Given the description of an element on the screen output the (x, y) to click on. 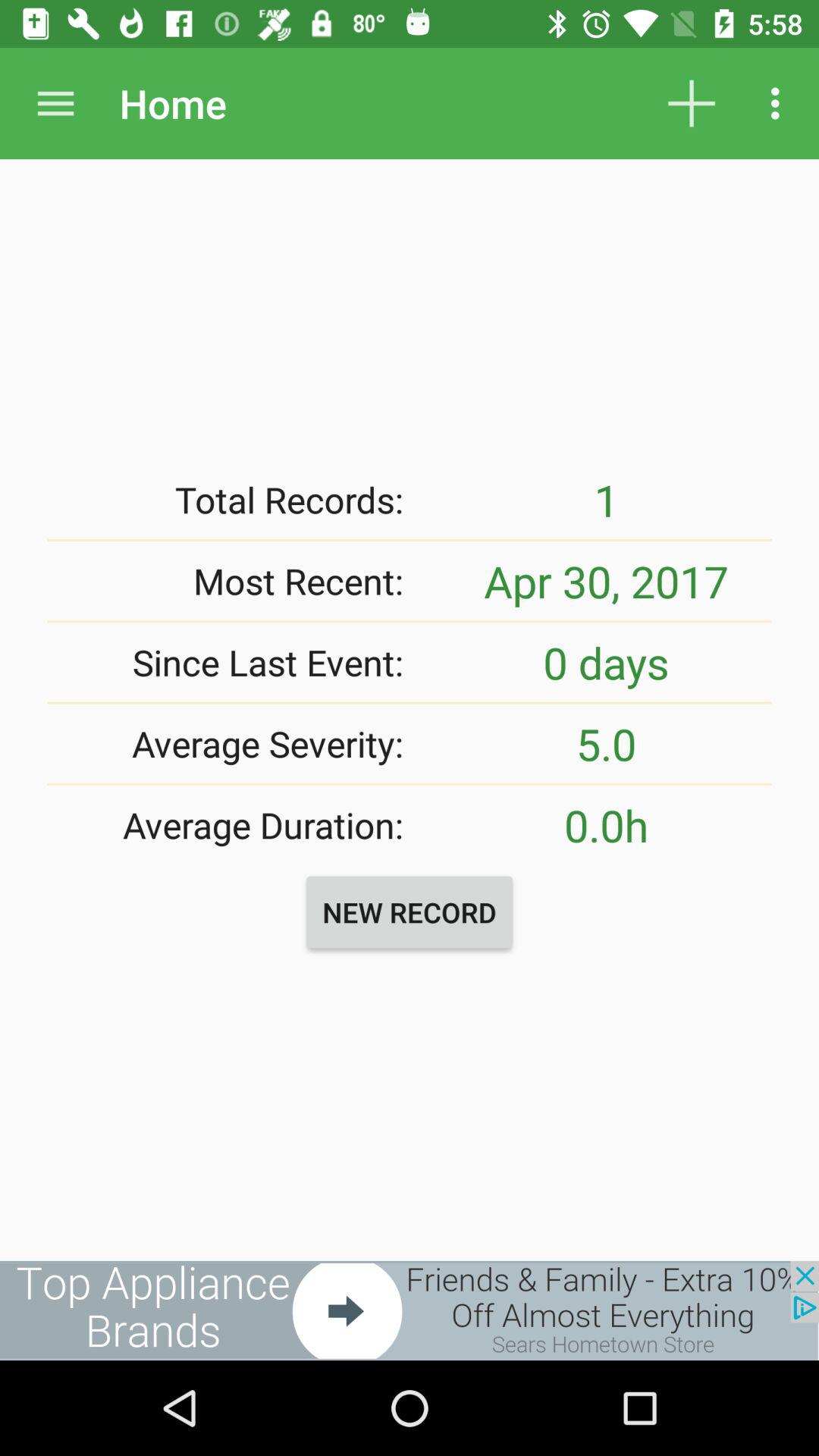
visit advertisement (409, 1310)
